Given the description of an element on the screen output the (x, y) to click on. 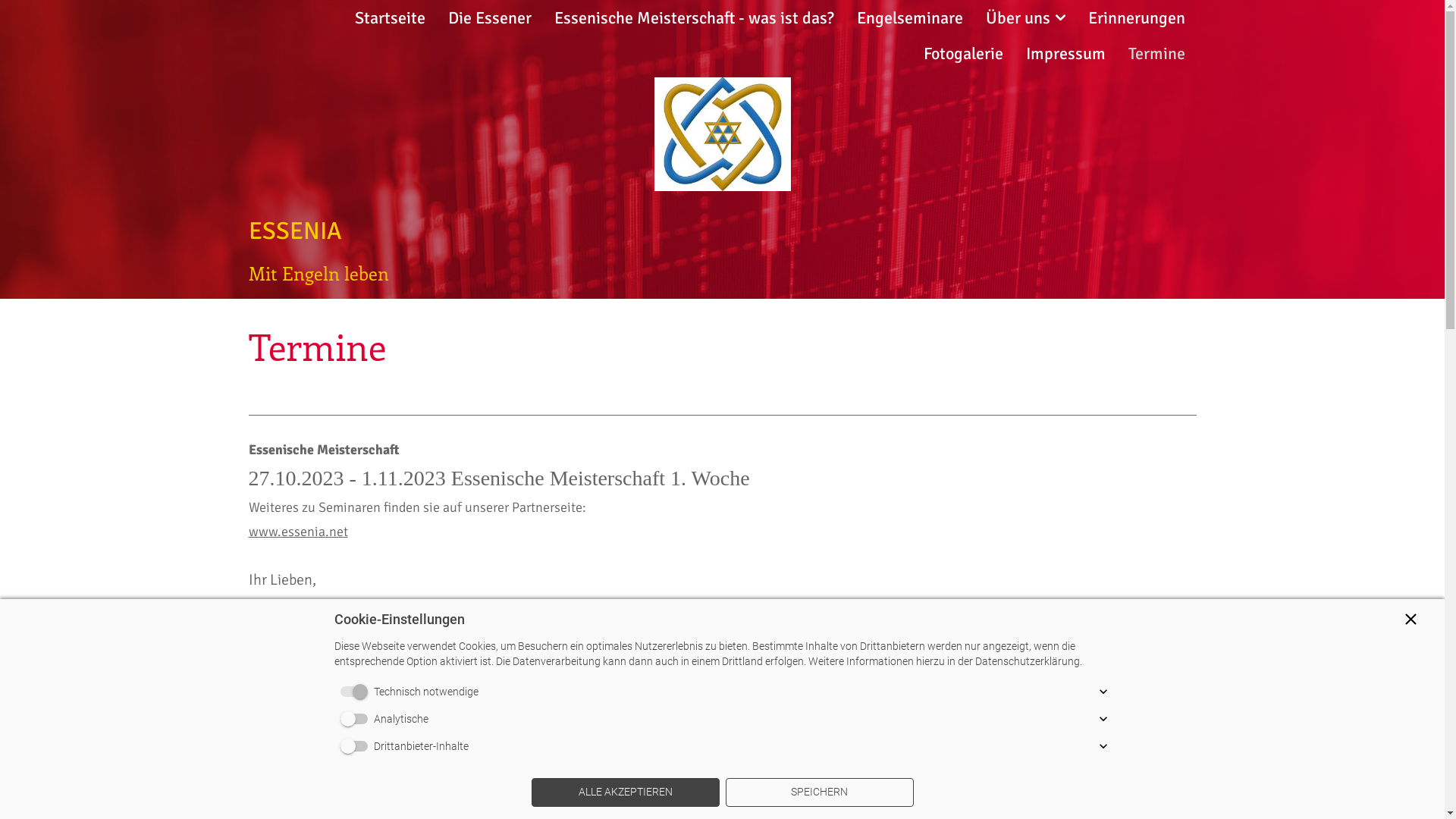
Engelseminare Element type: text (909, 17)
Impressum Element type: text (1064, 53)
Erinnerungen Element type: text (1135, 17)
Startseite Element type: text (389, 17)
Essenische Meisterschaft - was ist das? Element type: text (693, 17)
SPEICHERN Element type: text (818, 792)
www.essenia.net Element type: text (298, 531)
Die Essener Element type: text (488, 17)
ALLE AKZEPTIEREN Element type: text (624, 792)
Fotogalerie Element type: text (963, 53)
Termine Element type: text (1156, 53)
